Given the description of an element on the screen output the (x, y) to click on. 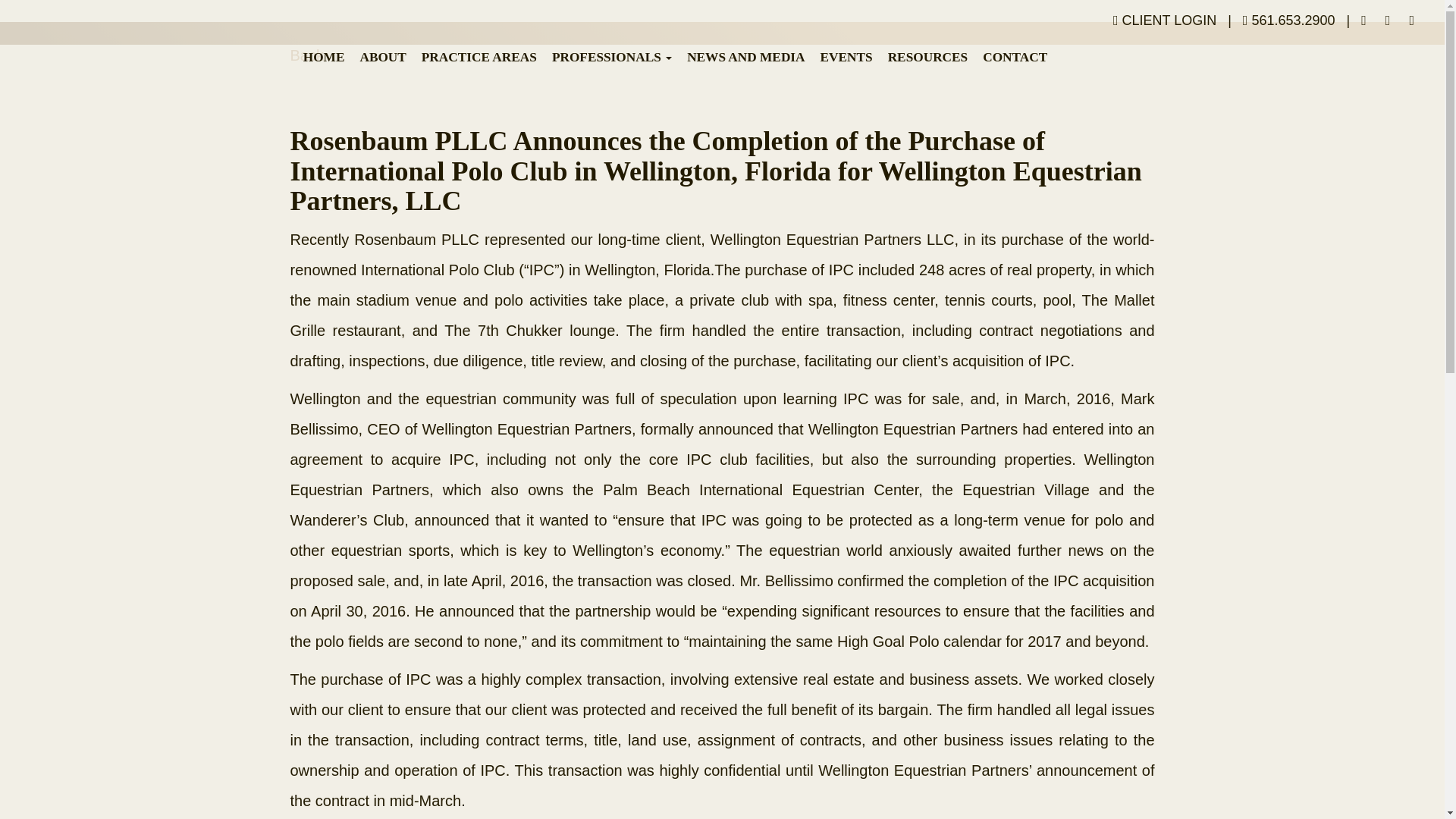
RESOURCES (927, 56)
Back (306, 51)
PRACTICE AREAS (478, 56)
CLIENT LOGIN (1164, 21)
EVENTS (846, 56)
HOME (323, 56)
CONTACT (1014, 56)
ABOUT (382, 56)
NEWS AND MEDIA (745, 56)
561.653.2900 (1288, 21)
